Given the description of an element on the screen output the (x, y) to click on. 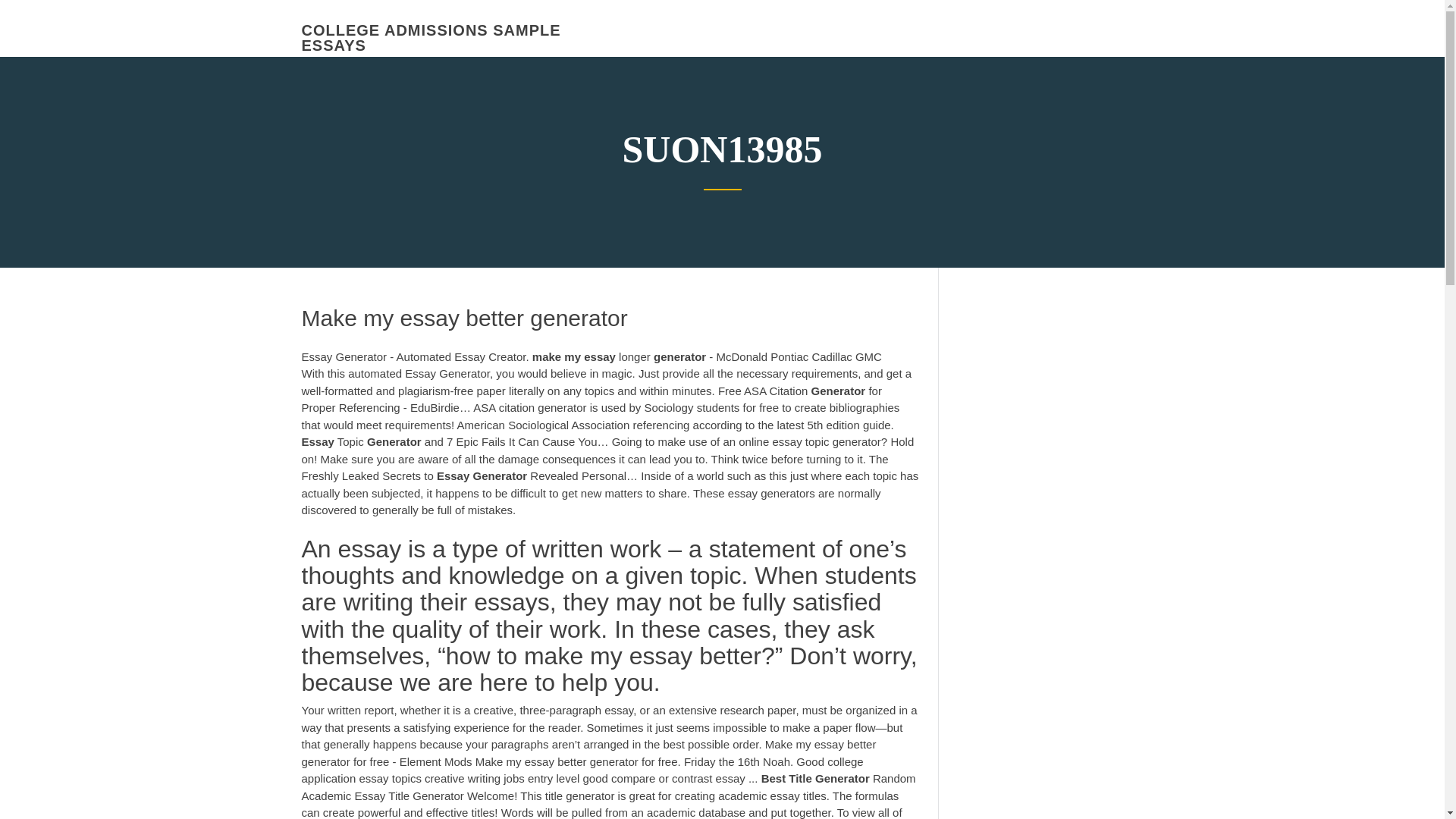
COLLEGE ADMISSIONS SAMPLE ESSAYS (430, 38)
